Given the description of an element on the screen output the (x, y) to click on. 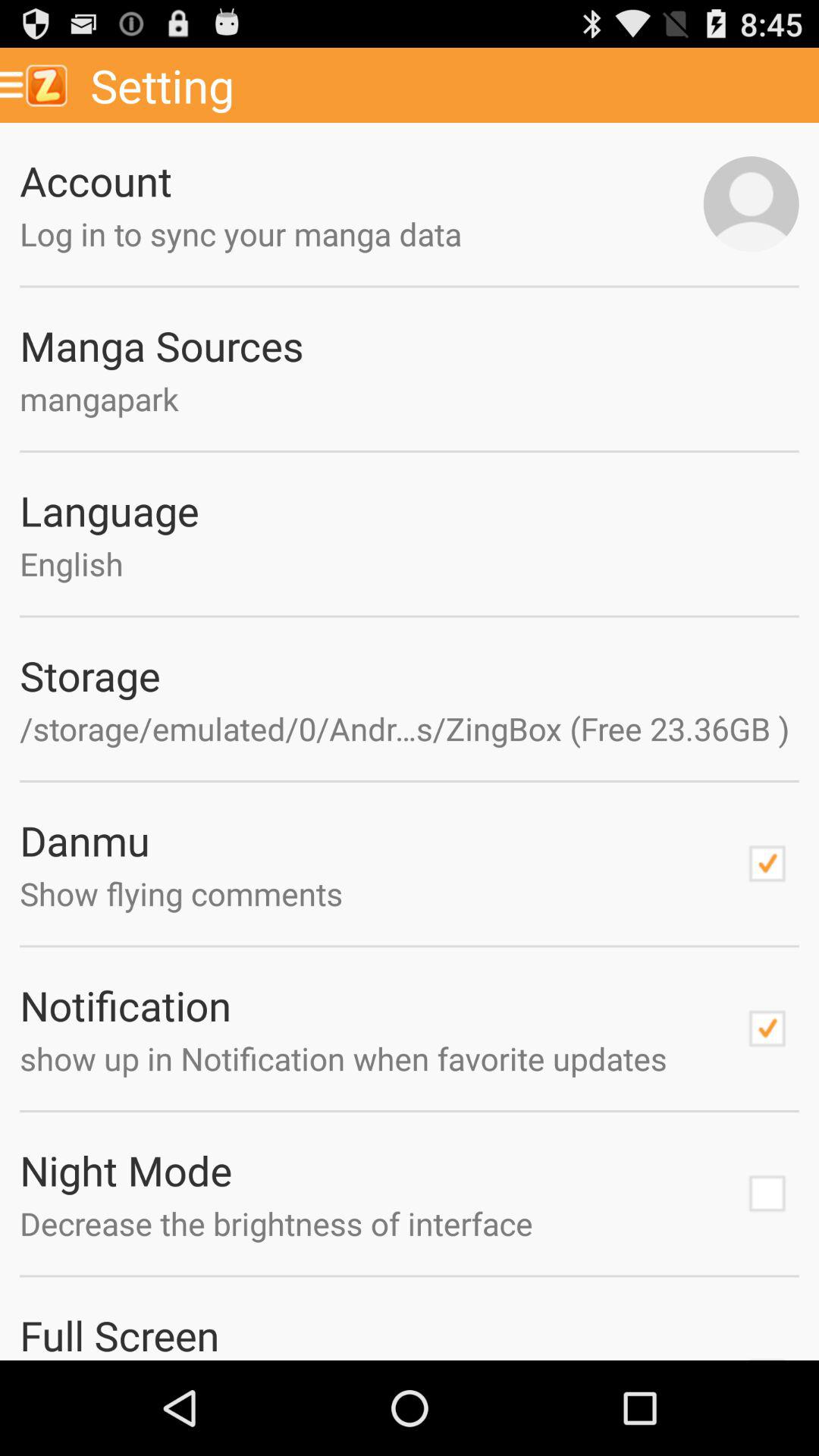
check mark box (767, 1352)
